Given the description of an element on the screen output the (x, y) to click on. 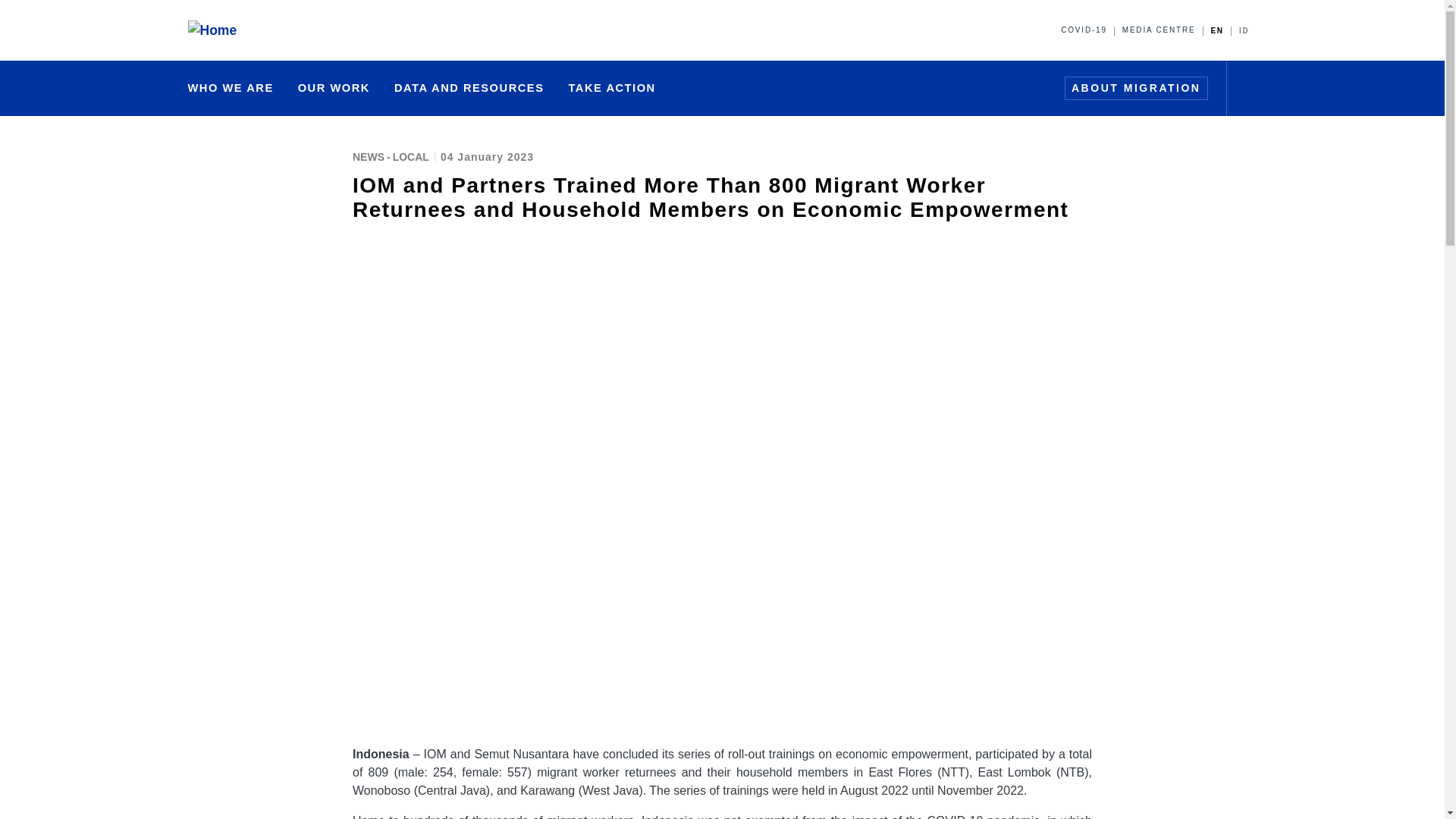
TAKE ACTION (611, 88)
OUR WORK (333, 88)
Home (215, 30)
2030 AGENDA (684, 88)
EN (1216, 30)
ID (1244, 30)
Click here to Search our website (1248, 87)
DATA AND RESOURCES (468, 88)
WHO WE ARE (230, 88)
MEDIA CENTRE (1159, 30)
ABOUT MIGRATION (1136, 87)
COVID-19 (1083, 30)
Skip to main content (721, 1)
